Given the description of an element on the screen output the (x, y) to click on. 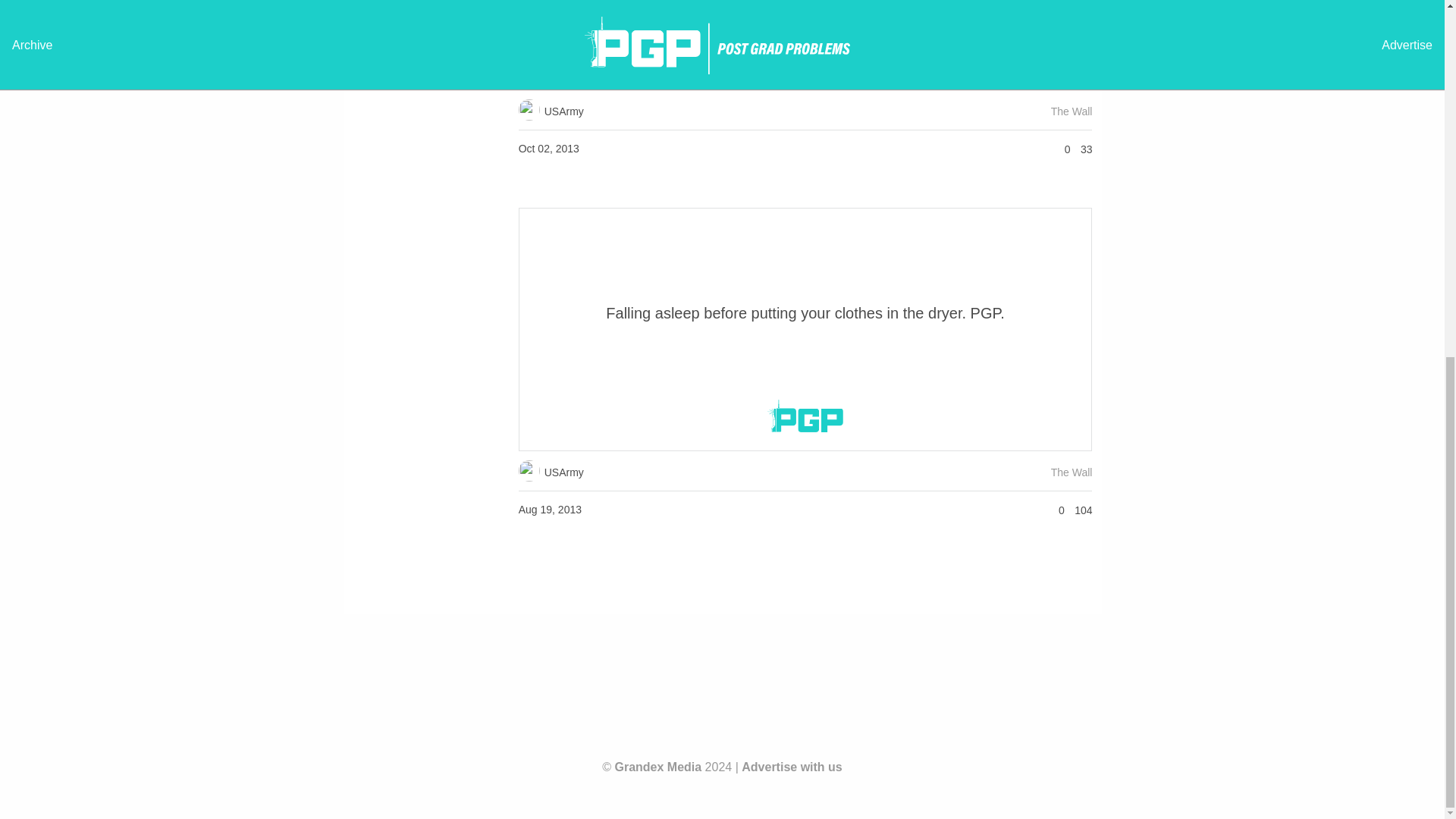
The Wall (1072, 472)
The Wall (1072, 111)
USArmy (550, 472)
USArmy (550, 111)
Grandex Media (657, 766)
Advertise with us (791, 766)
Having several boxes of cereal but no milk. PGP. (805, 18)
